Given the description of an element on the screen output the (x, y) to click on. 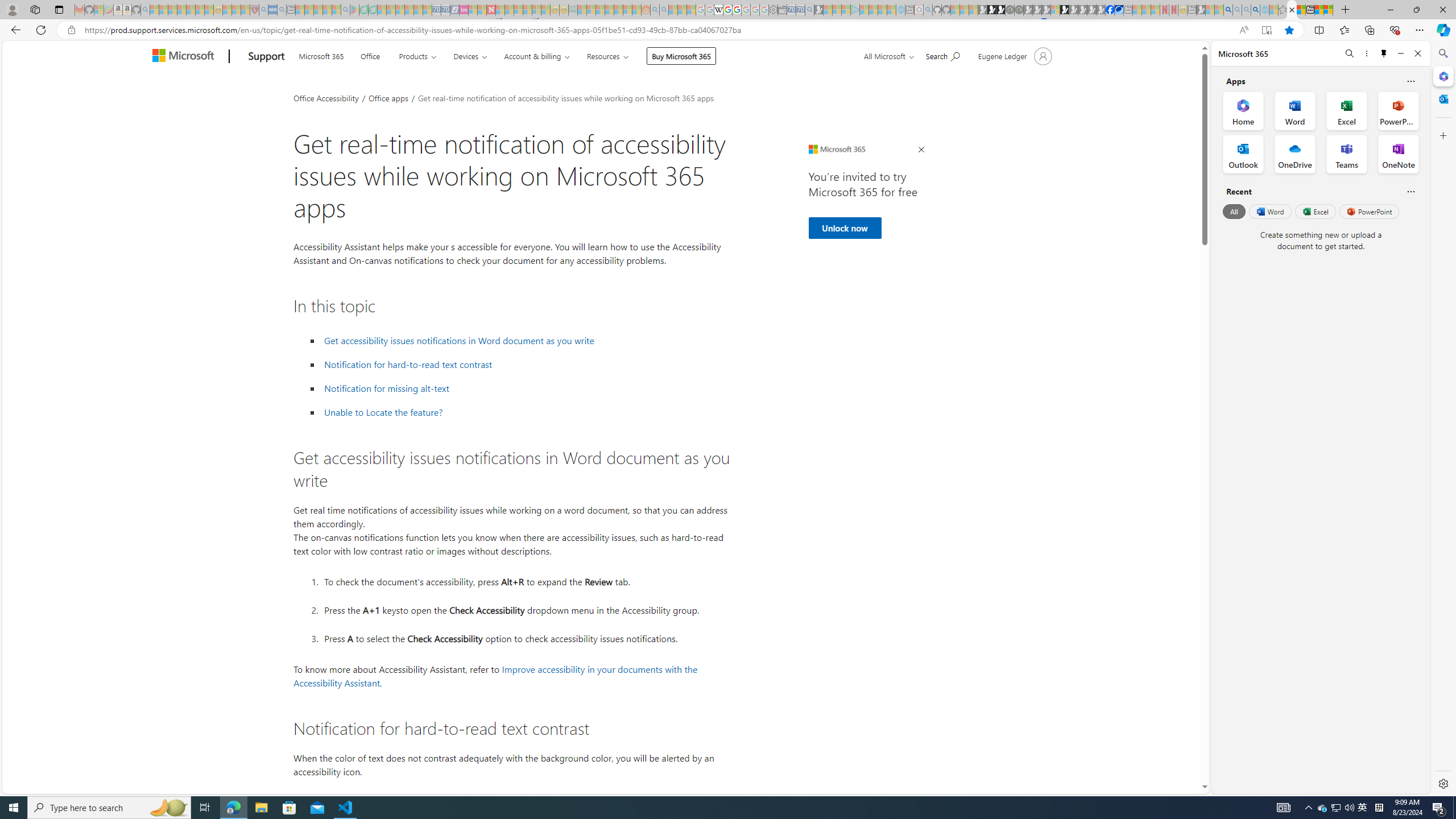
Excel (1315, 210)
Unlock now (844, 228)
Privacy Help Center - Policies Help (726, 9)
Bing AI - Search (1227, 9)
